Given the description of an element on the screen output the (x, y) to click on. 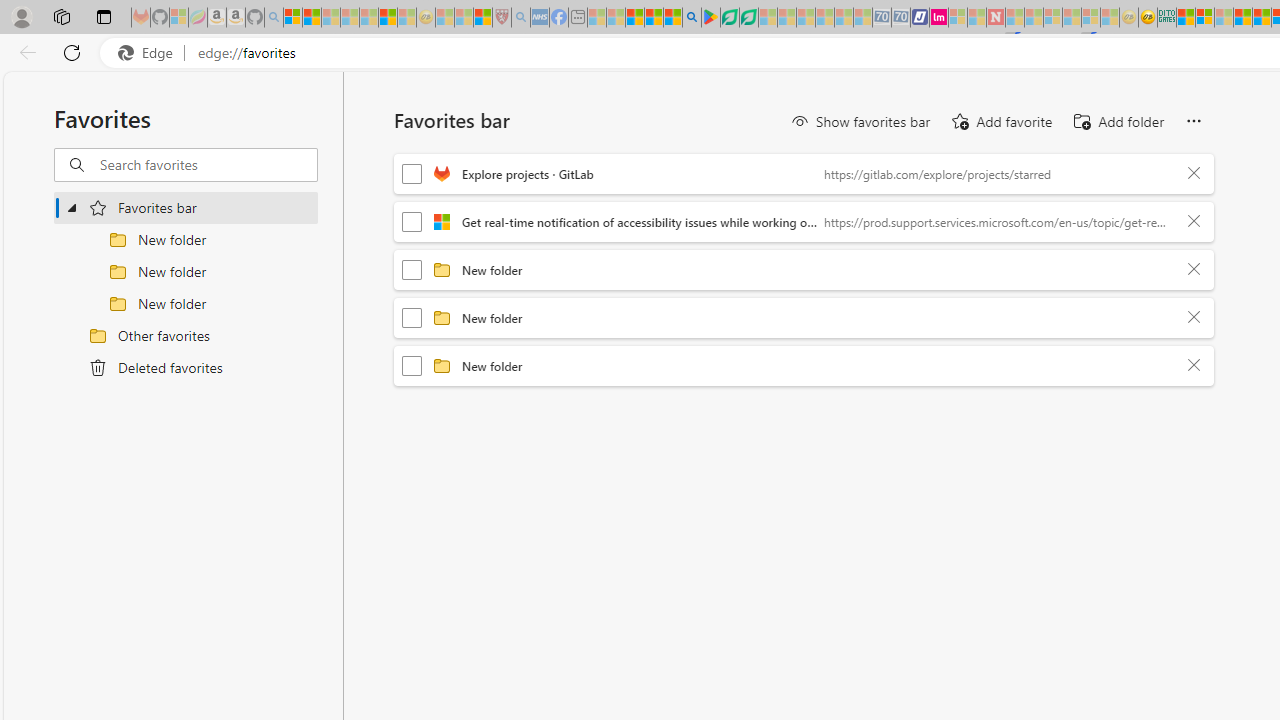
Microsoft Start - Sleeping (976, 17)
Expert Portfolios (1242, 17)
Jobs - lastminute.com Investor Portal (939, 17)
Delete (1194, 366)
Recipes - MSN - Sleeping (445, 17)
New Report Confirms 2023 Was Record Hot | Watch - Sleeping (368, 17)
Terms of Use Agreement (729, 17)
NCL Adult Asthma Inhaler Choice Guideline - Sleeping (540, 17)
Microsoft account | Privacy - Sleeping (957, 17)
